Given the description of an element on the screen output the (x, y) to click on. 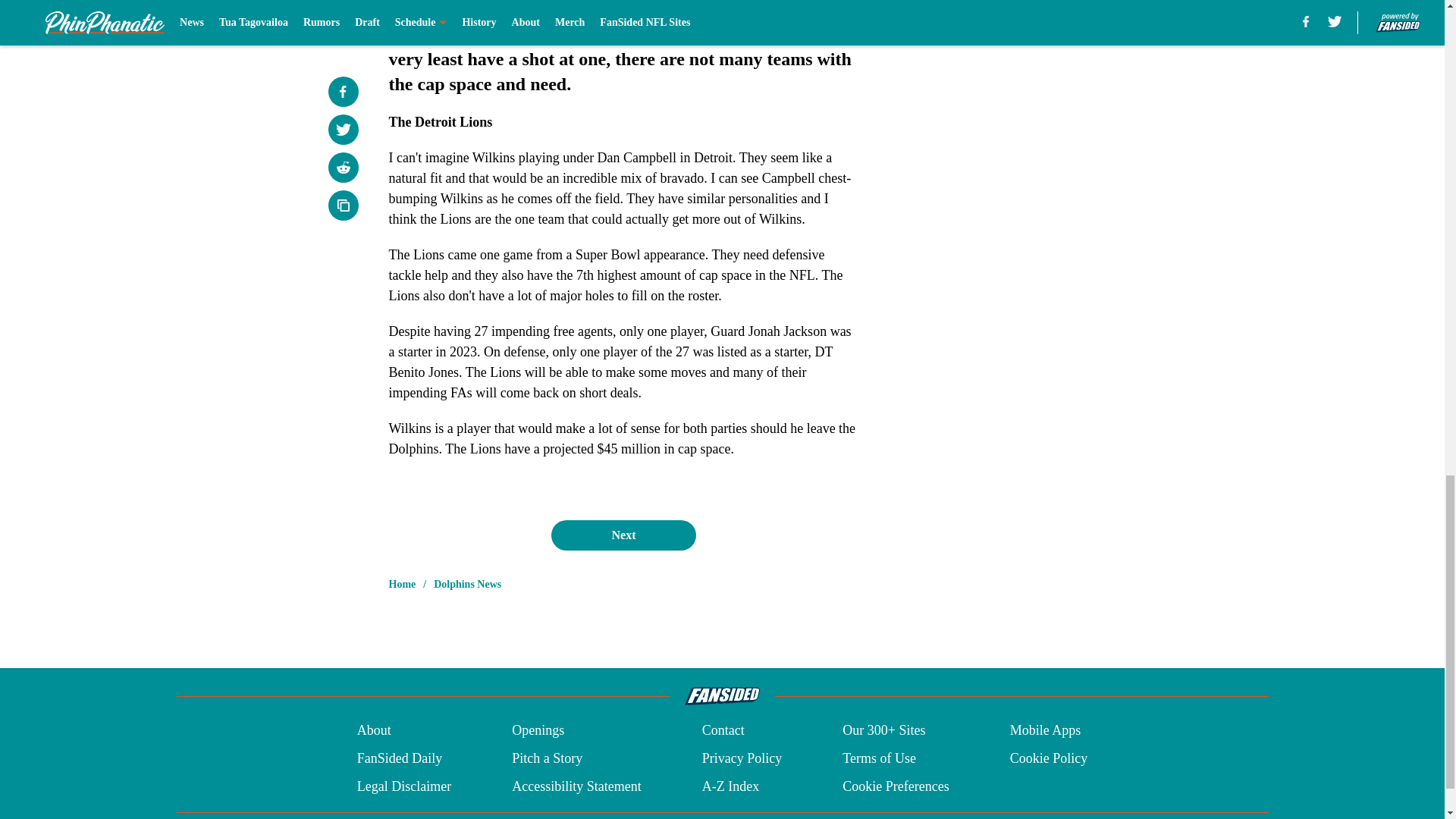
Home (401, 584)
Pitch a Story (547, 758)
Cookie Policy (1048, 758)
A-Z Index (729, 786)
Terms of Use (879, 758)
Legal Disclaimer (403, 786)
About (373, 730)
Accessibility Statement (576, 786)
Mobile Apps (1045, 730)
Contact (722, 730)
